Given the description of an element on the screen output the (x, y) to click on. 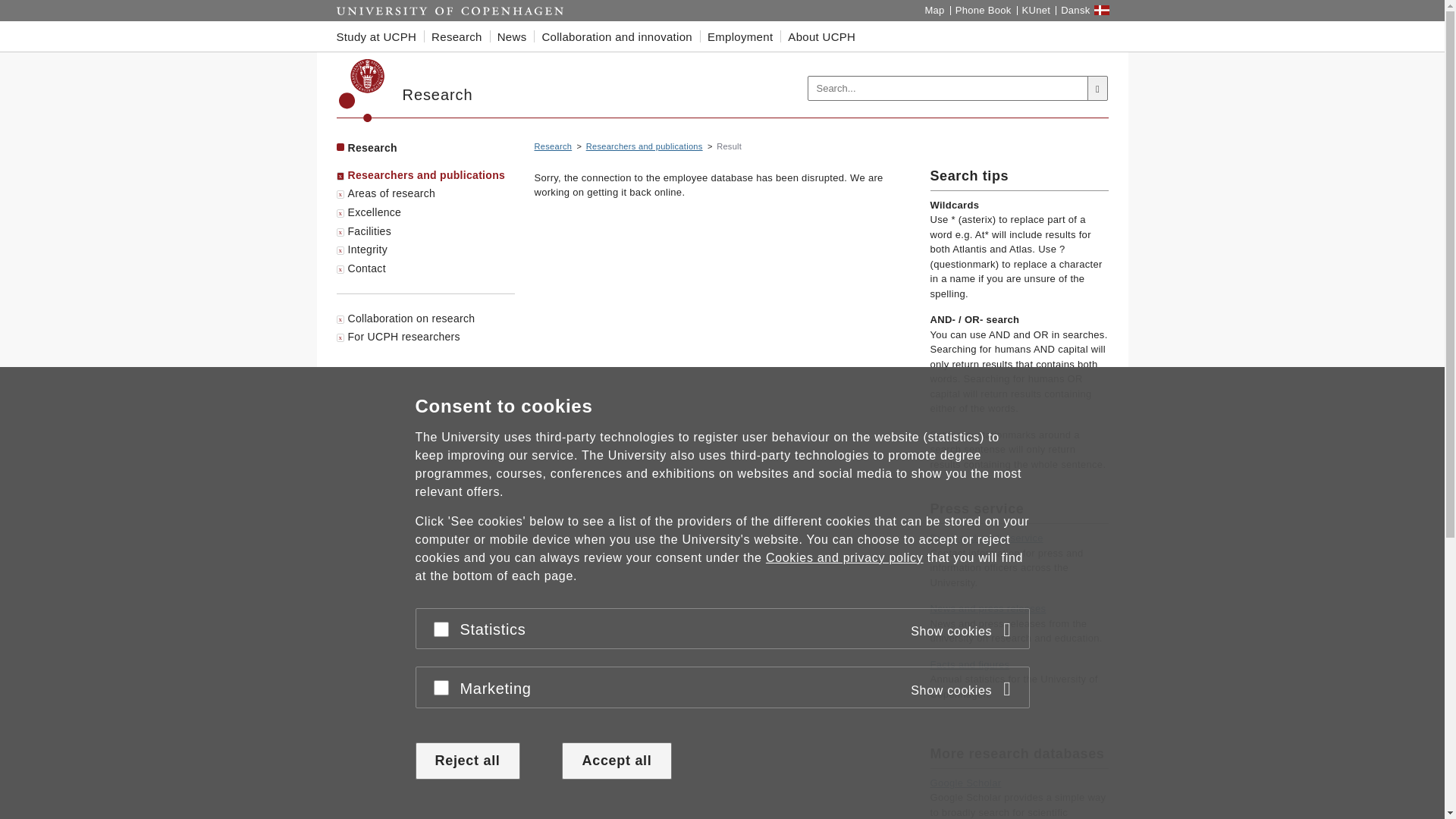
Facts and figures (969, 664)
News site (987, 608)
Start (450, 10)
Search researchers and publications (644, 145)
